Given the description of an element on the screen output the (x, y) to click on. 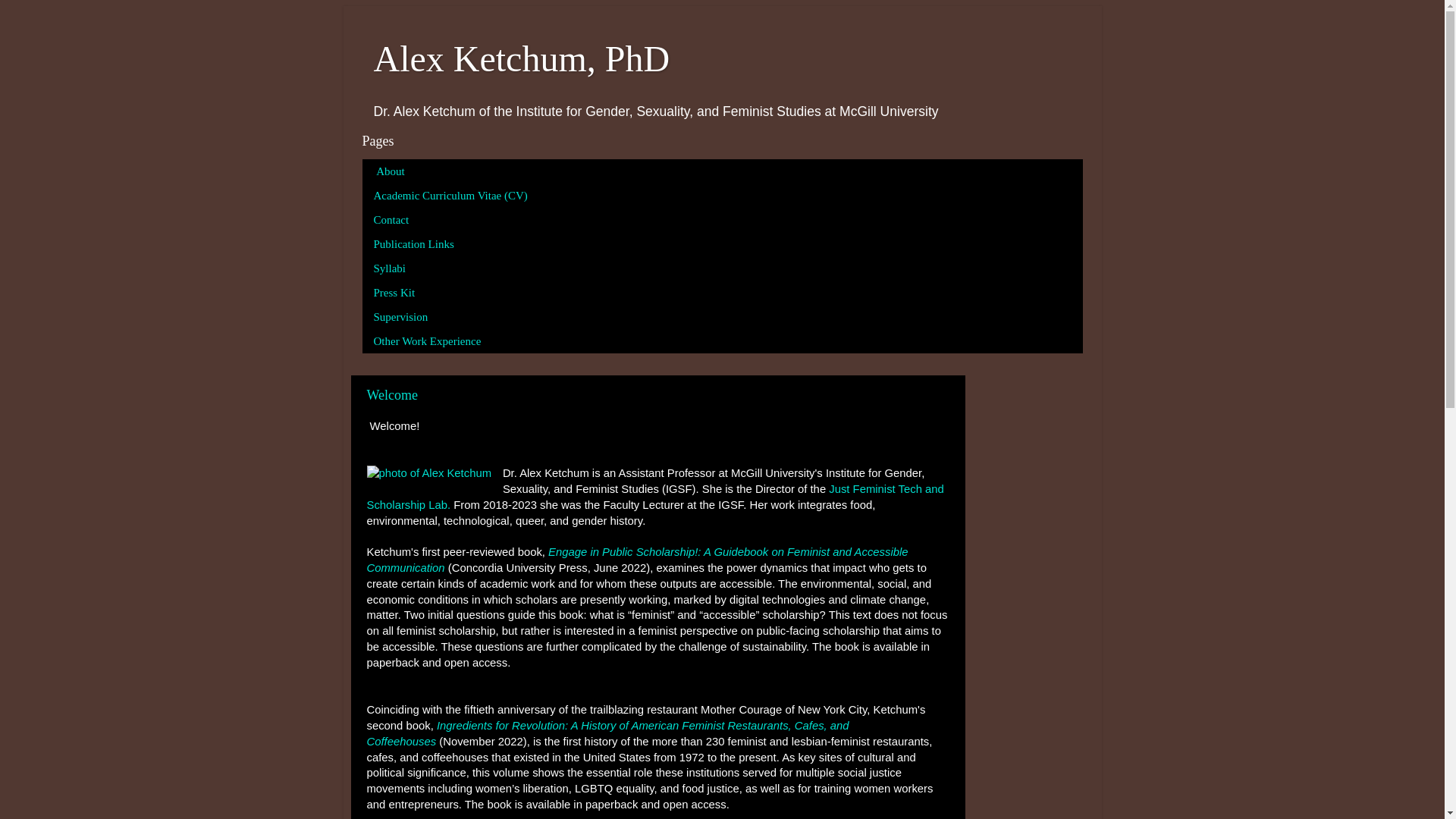
Academic Curriculum Vitae (CV) Element type: text (450, 195)
Syllabi Element type: text (390, 268)
Publication Links Element type: text (414, 244)
Supervision Element type: text (401, 316)
Other Work Experience Element type: text (427, 341)
About Element type: text (389, 171)
Contact Element type: text (391, 219)
Just Feminist Tech and Scholarship Lab. Element type: text (655, 497)
Welcome Element type: text (392, 394)
Press Kit Element type: text (394, 292)
